Given the description of an element on the screen output the (x, y) to click on. 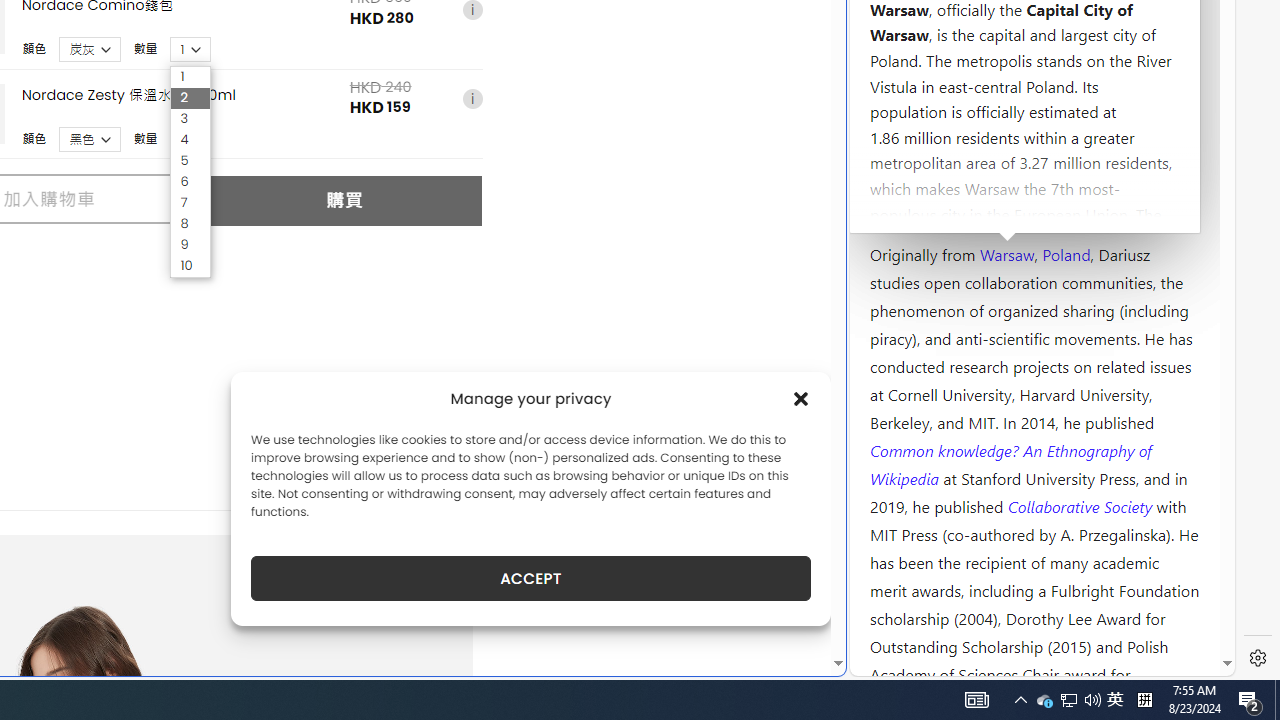
ACCEPT (530, 578)
i (472, 99)
2 (190, 97)
Harvard University (934, 205)
10 (190, 266)
5 (190, 161)
Class: cmplz-close (801, 398)
